Given the description of an element on the screen output the (x, y) to click on. 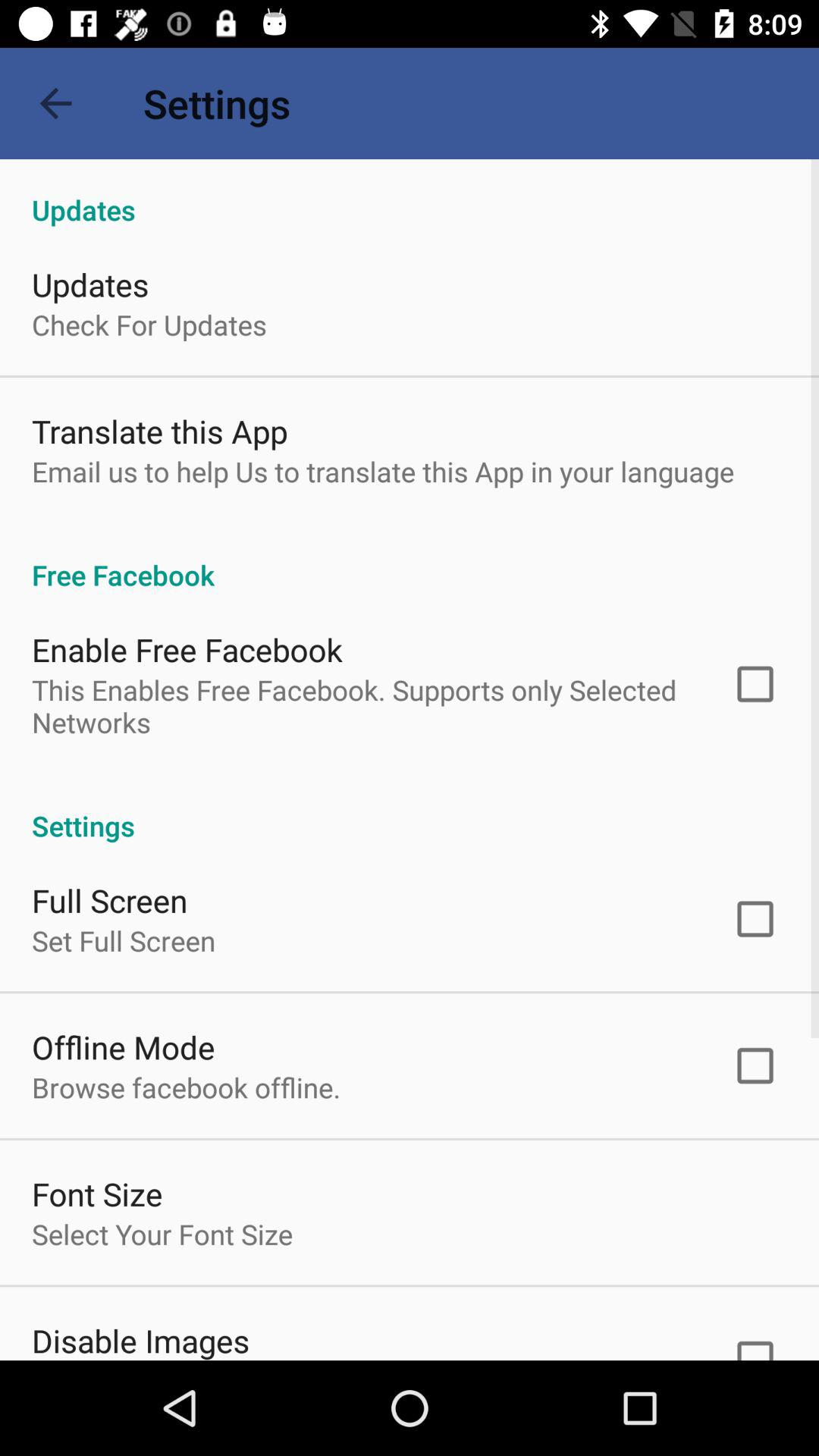
click app above the settings icon (361, 706)
